Given the description of an element on the screen output the (x, y) to click on. 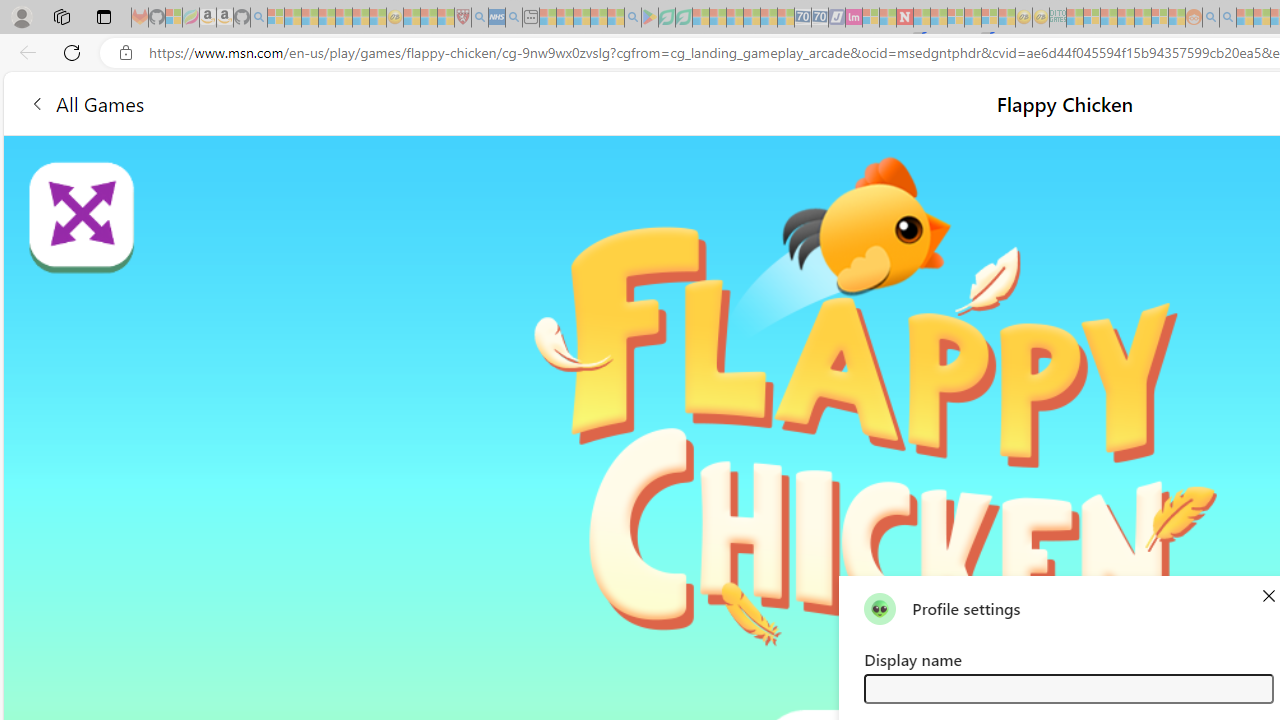
Kinda Frugal - MSN - Sleeping (1142, 17)
